Given the description of an element on the screen output the (x, y) to click on. 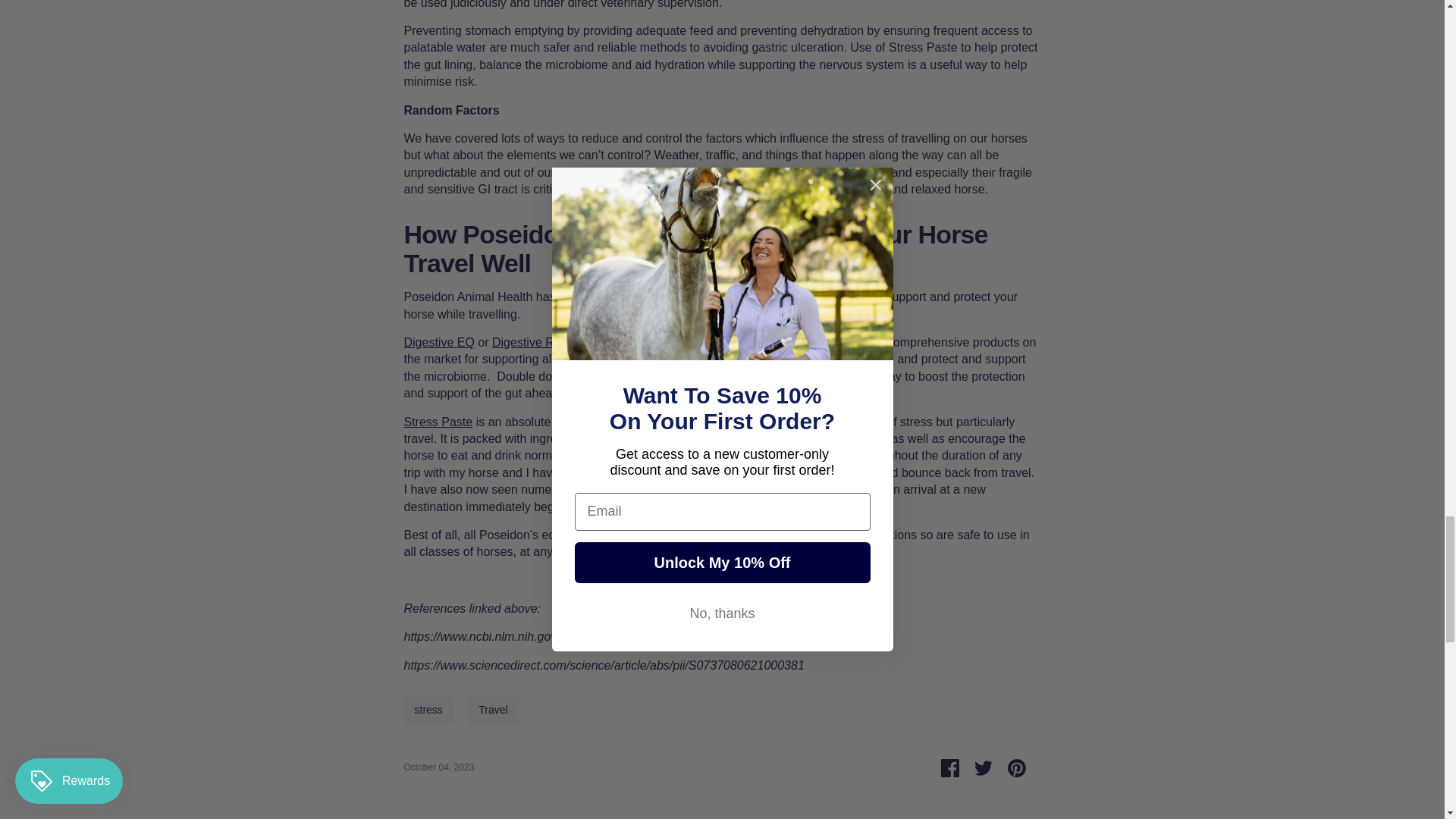
sporthorse gut care (527, 341)
horse gut supplement (438, 341)
calming paste for horses (437, 421)
